Given the description of an element on the screen output the (x, y) to click on. 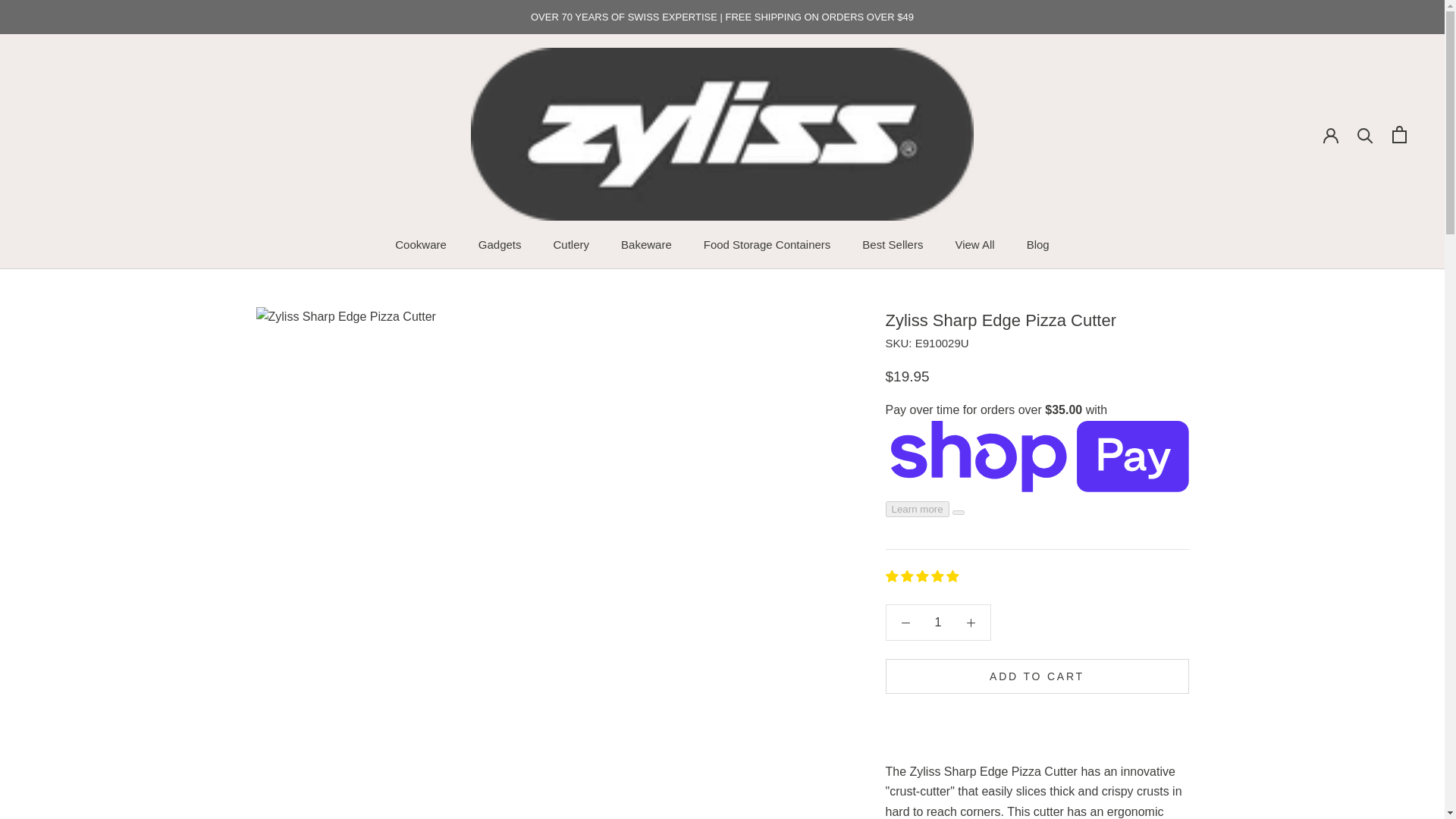
1 (938, 622)
